Given the description of an element on the screen output the (x, y) to click on. 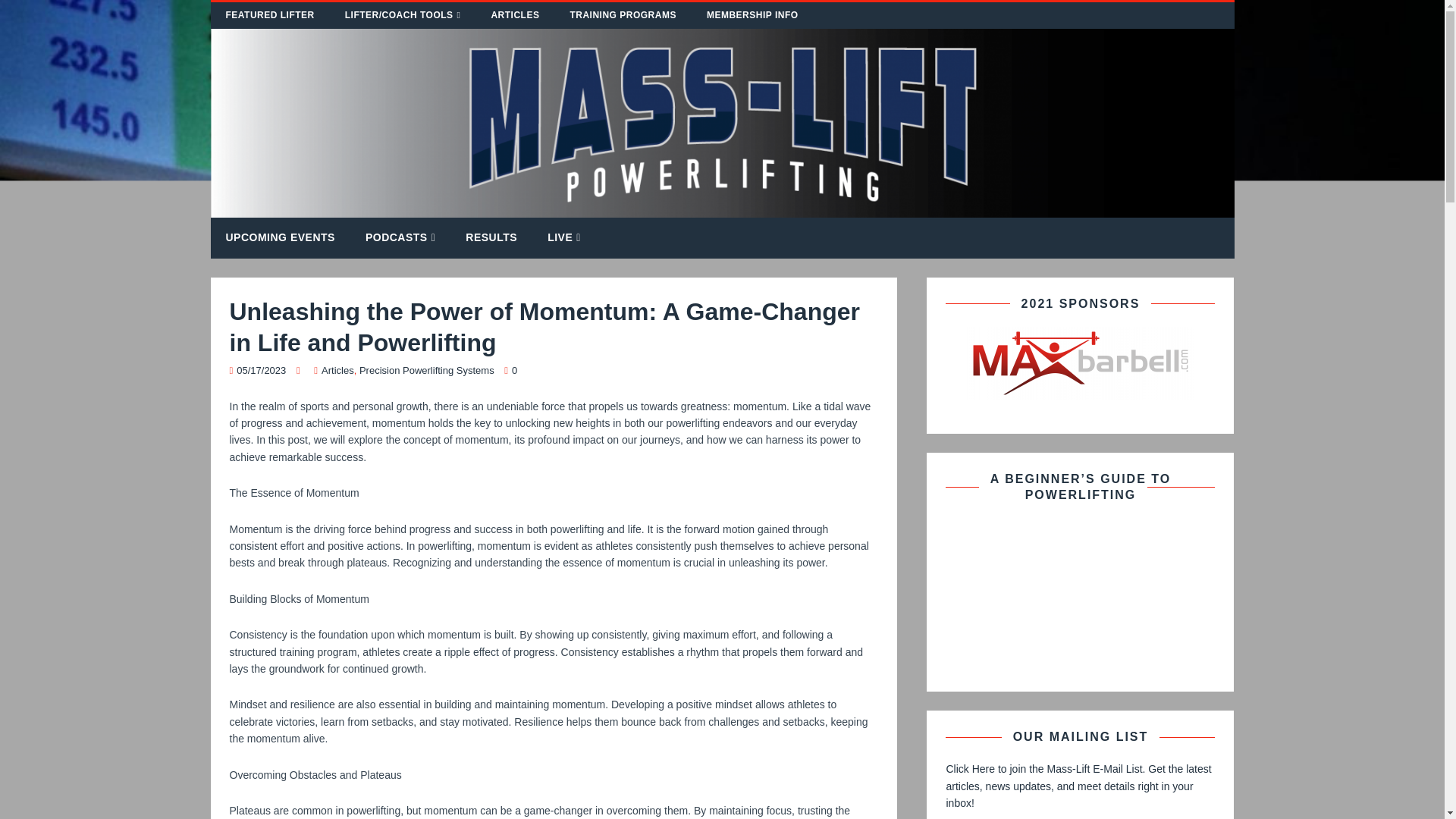
0 (514, 369)
2020 Sponsors (1079, 362)
TRAINING PROGRAMS (622, 15)
FEATURED LIFTER (270, 15)
UPCOMING EVENTS (280, 237)
PODCASTS (399, 237)
ARTICLES (515, 15)
MEMBERSHIP INFO (752, 15)
Mass-Lift Powerlifting (722, 209)
